Given the description of an element on the screen output the (x, y) to click on. 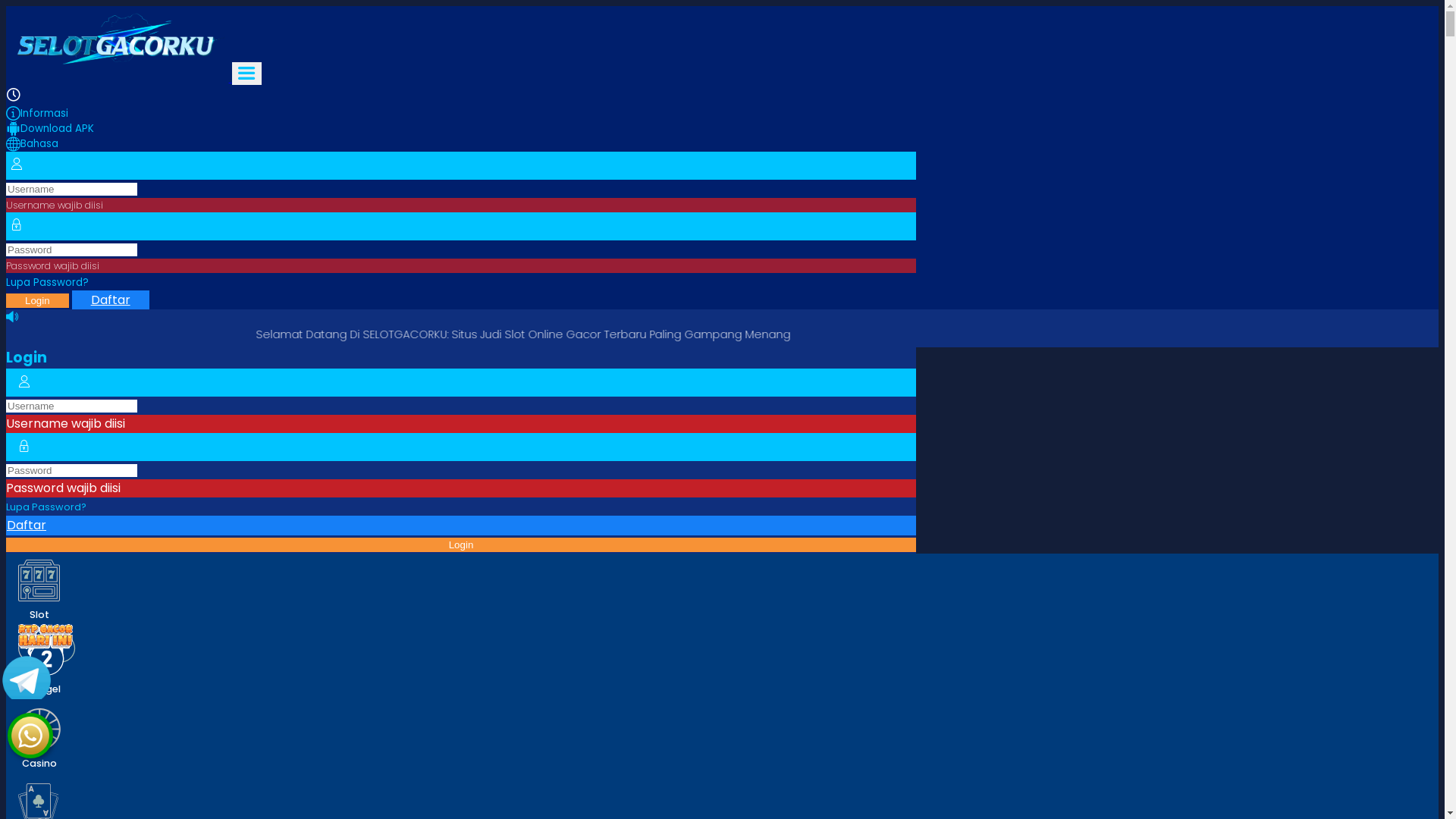
Lupa Password? Element type: text (47, 281)
Login Element type: text (461, 544)
Casino Element type: text (39, 739)
Slot Element type: text (38, 590)
Lupa Password? Element type: text (46, 505)
Download APK Element type: text (461, 128)
Login Element type: text (37, 300)
Togel Element type: text (46, 664)
RTP SLOT Element type: hover (45, 668)
Daftar Element type: text (461, 525)
Bahasa Element type: text (461, 143)
Daftar Element type: text (110, 299)
Informasi Element type: text (461, 113)
